Given the description of an element on the screen output the (x, y) to click on. 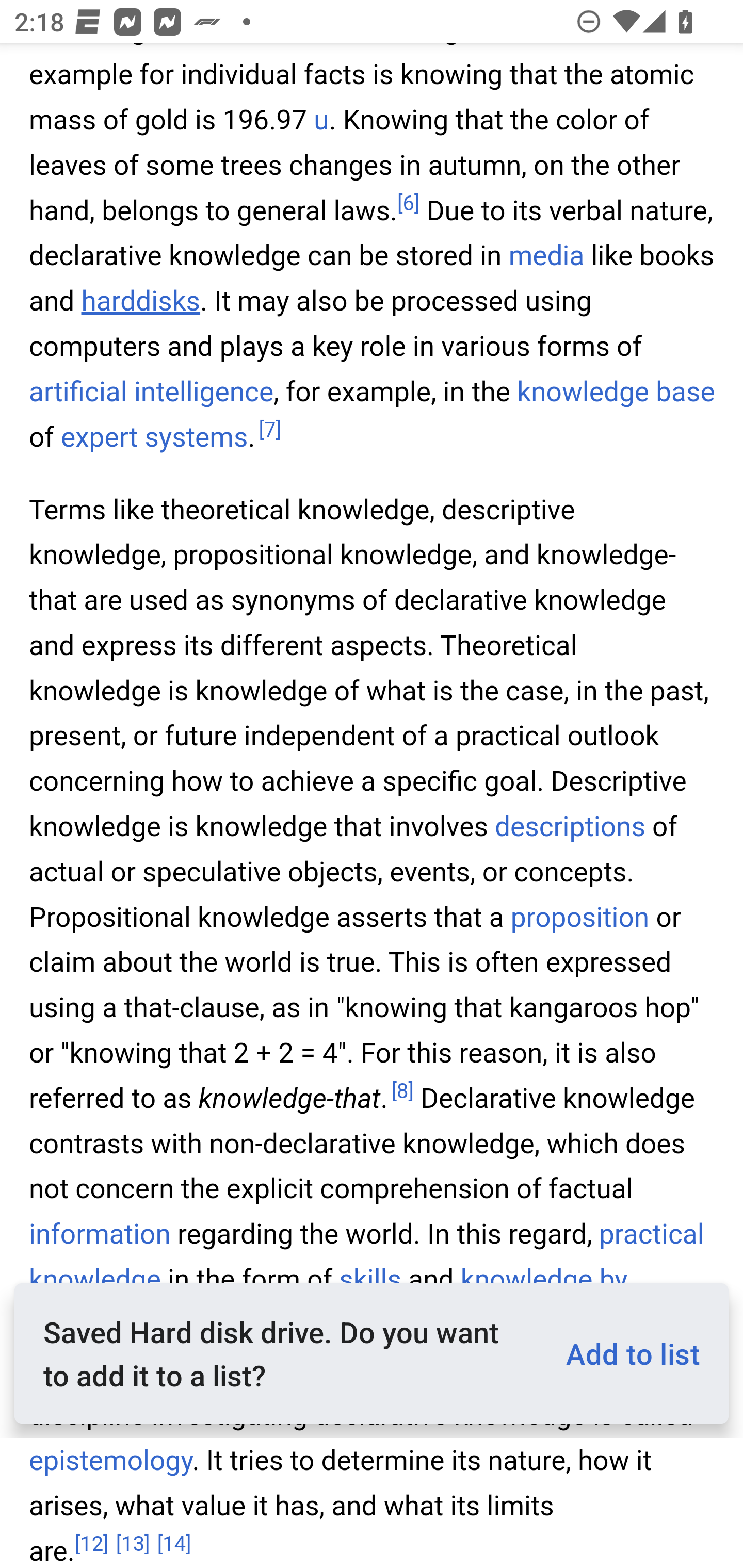
u (320, 121)
[] [ 6 ] (407, 204)
media (546, 256)
harddisks (140, 302)
artificial intelligence (151, 391)
knowledge base (616, 391)
[] [ 7 ] (269, 430)
expert systems (153, 437)
descriptions (570, 827)
proposition (579, 917)
[] [ 8 ] (402, 1091)
information (99, 1235)
practical knowledge (366, 1258)
Add to list (625, 1353)
epistemology (110, 1461)
[] [ 12 ] (91, 1543)
[] [ 13 ] (133, 1543)
[] [ 14 ] (174, 1543)
